Given the description of an element on the screen output the (x, y) to click on. 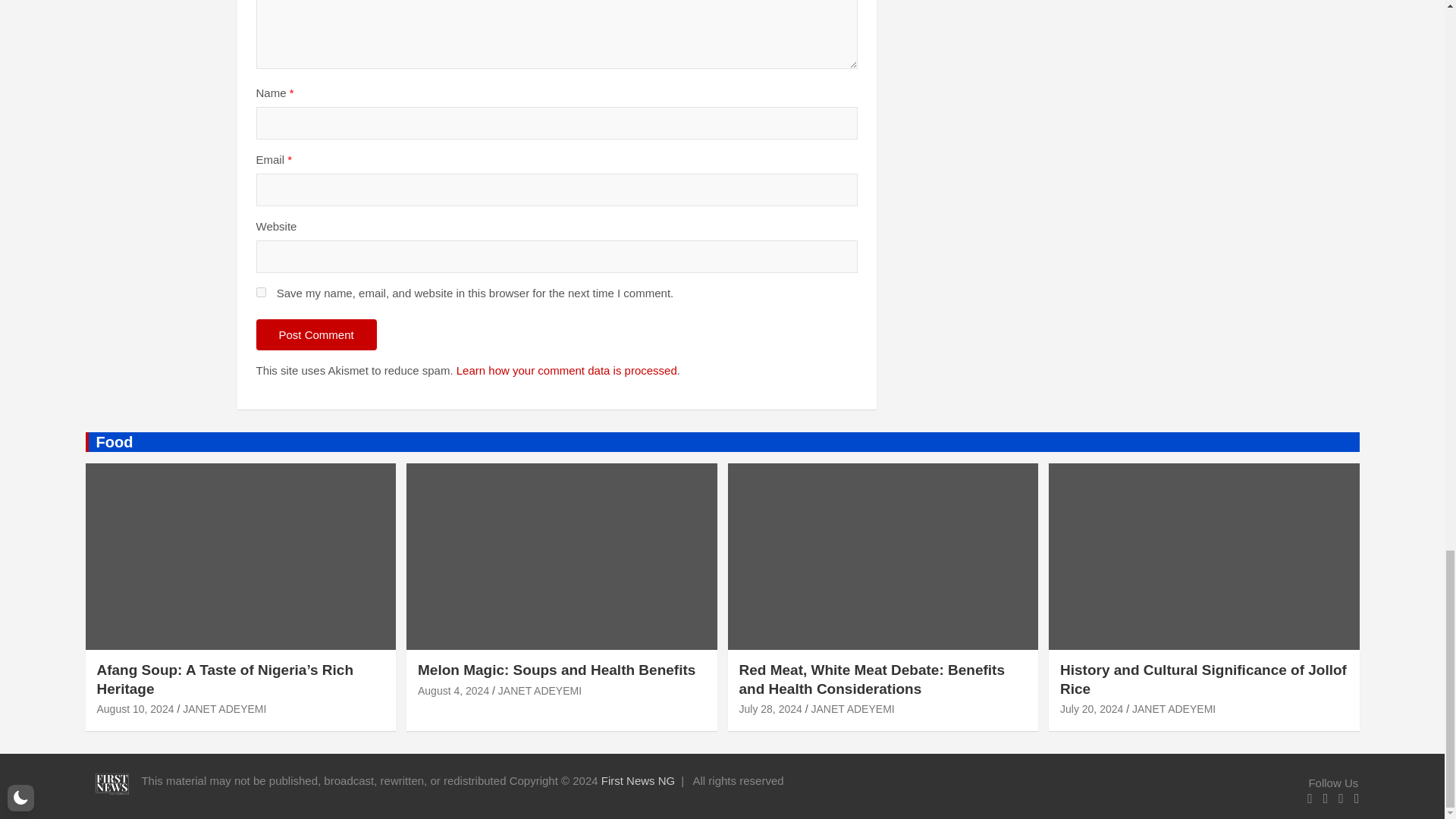
History and Cultural Significance of Jollof Rice (1090, 708)
First News NG (638, 780)
Post Comment (316, 334)
Melon Magic: Soups and Health Benefits (453, 690)
Post Comment (316, 334)
yes (261, 292)
